Given the description of an element on the screen output the (x, y) to click on. 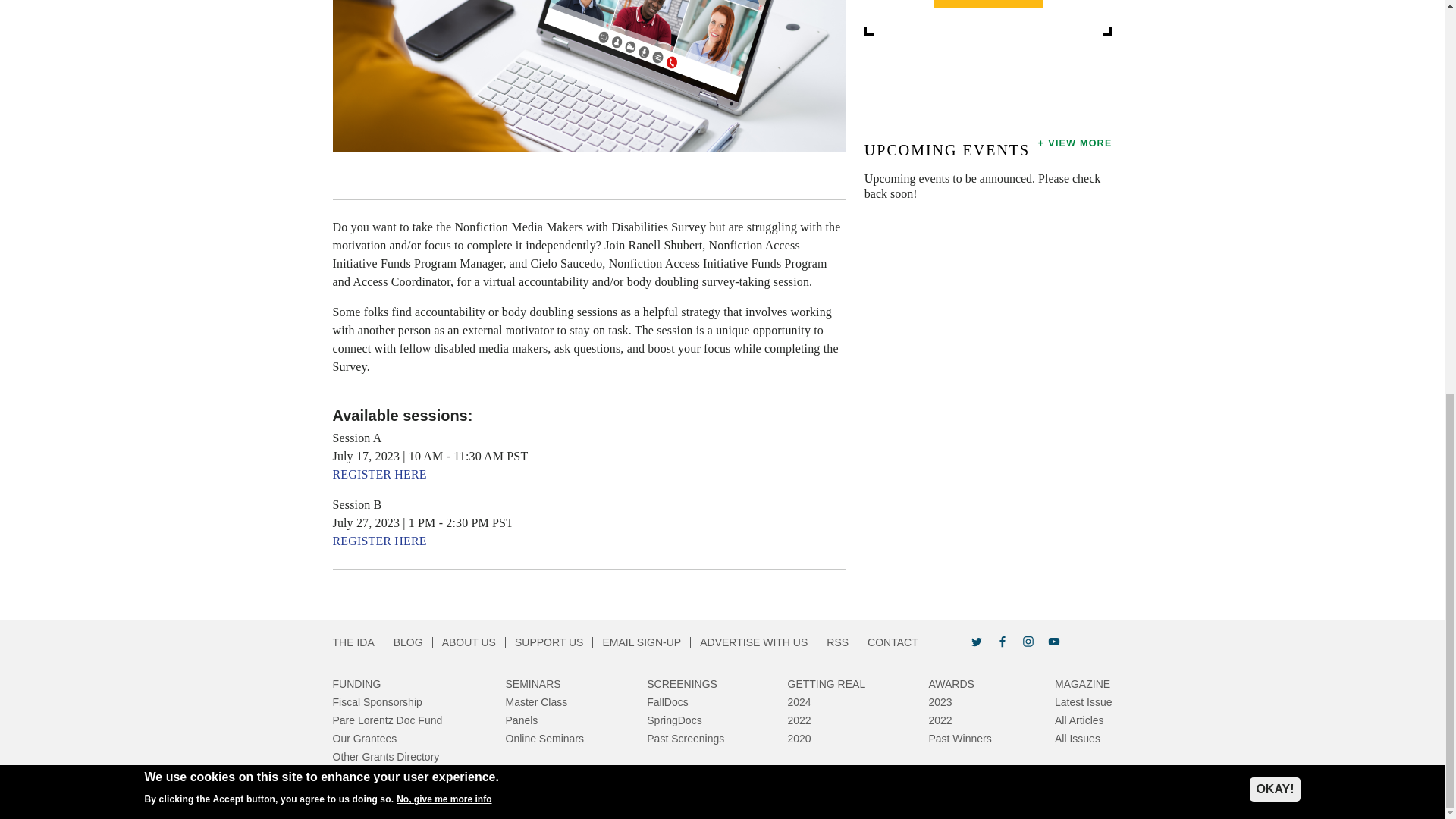
REGISTER HERE (378, 473)
OKAY! (1274, 32)
No, give me more info (444, 41)
REGISTER HERE (378, 540)
